Given the description of an element on the screen output the (x, y) to click on. 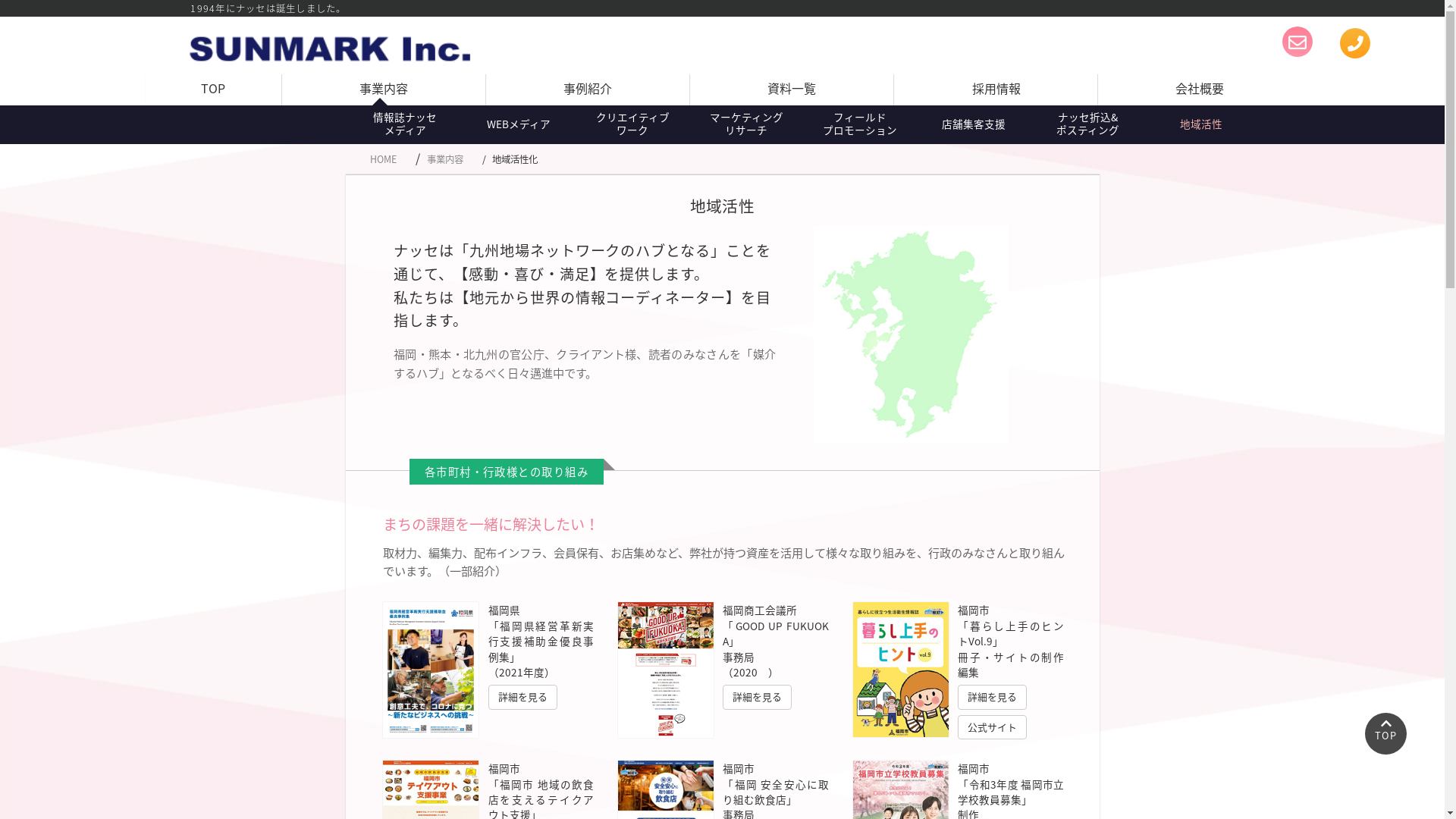
TOP Element type: text (1385, 733)
TOP Element type: text (213, 90)
HOME Element type: text (383, 159)
